Given the description of an element on the screen output the (x, y) to click on. 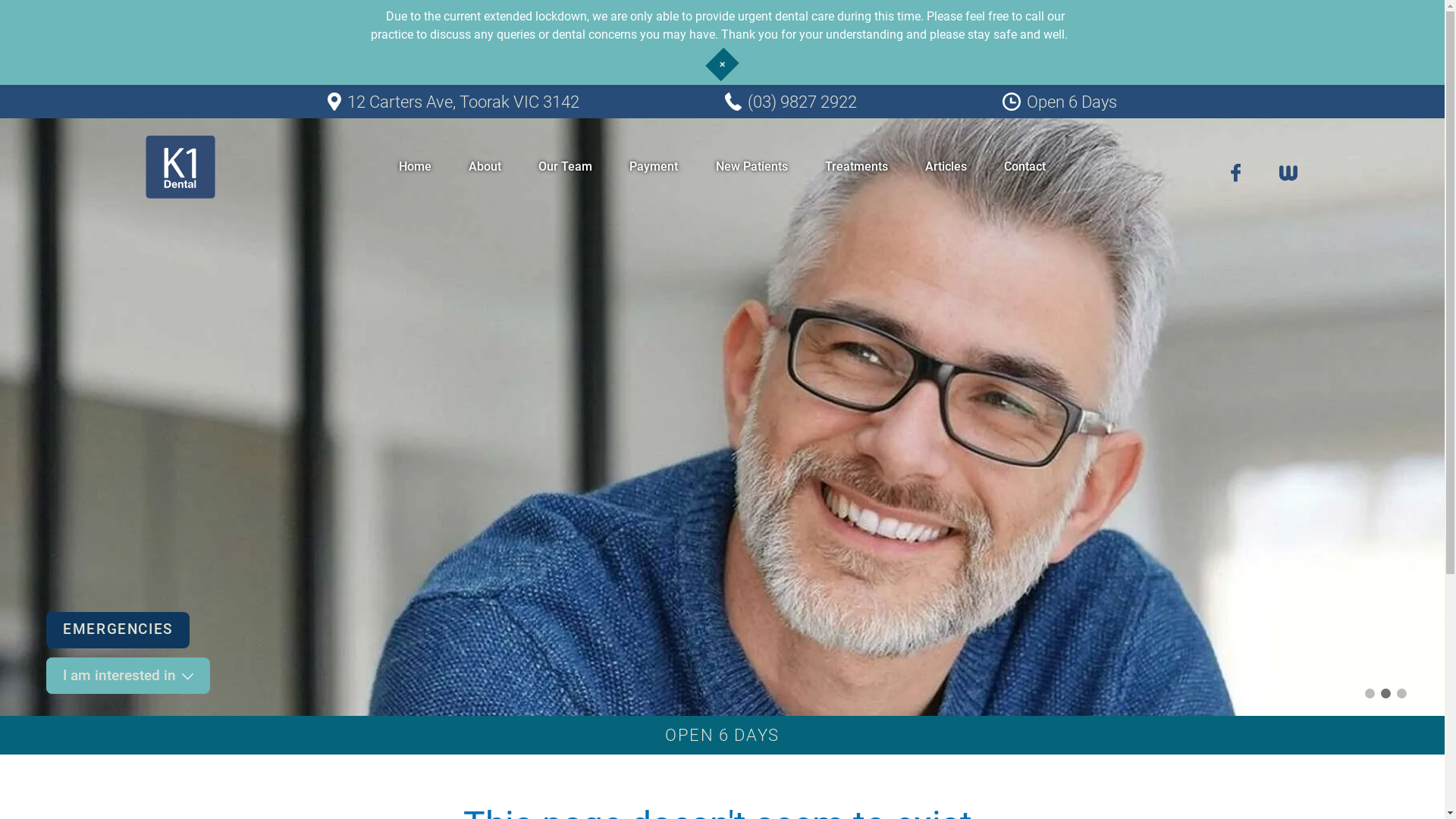
Home Element type: text (414, 166)
+ Element type: text (722, 63)
Our Team Element type: text (565, 166)
Contact Element type: text (1024, 166)
Articles Element type: text (945, 166)
Payment Element type: text (653, 166)
Treatments Element type: text (856, 166)
New Patients Element type: text (751, 166)
I am interested in Element type: text (128, 675)
About Element type: text (484, 166)
EMERGENCIES Element type: text (128, 629)
Open 6 Days Element type: text (1059, 103)
(03) 9827 2922 Element type: text (790, 103)
12 Carters Ave, Toorak VIC 3142 Element type: text (453, 103)
